Given the description of an element on the screen output the (x, y) to click on. 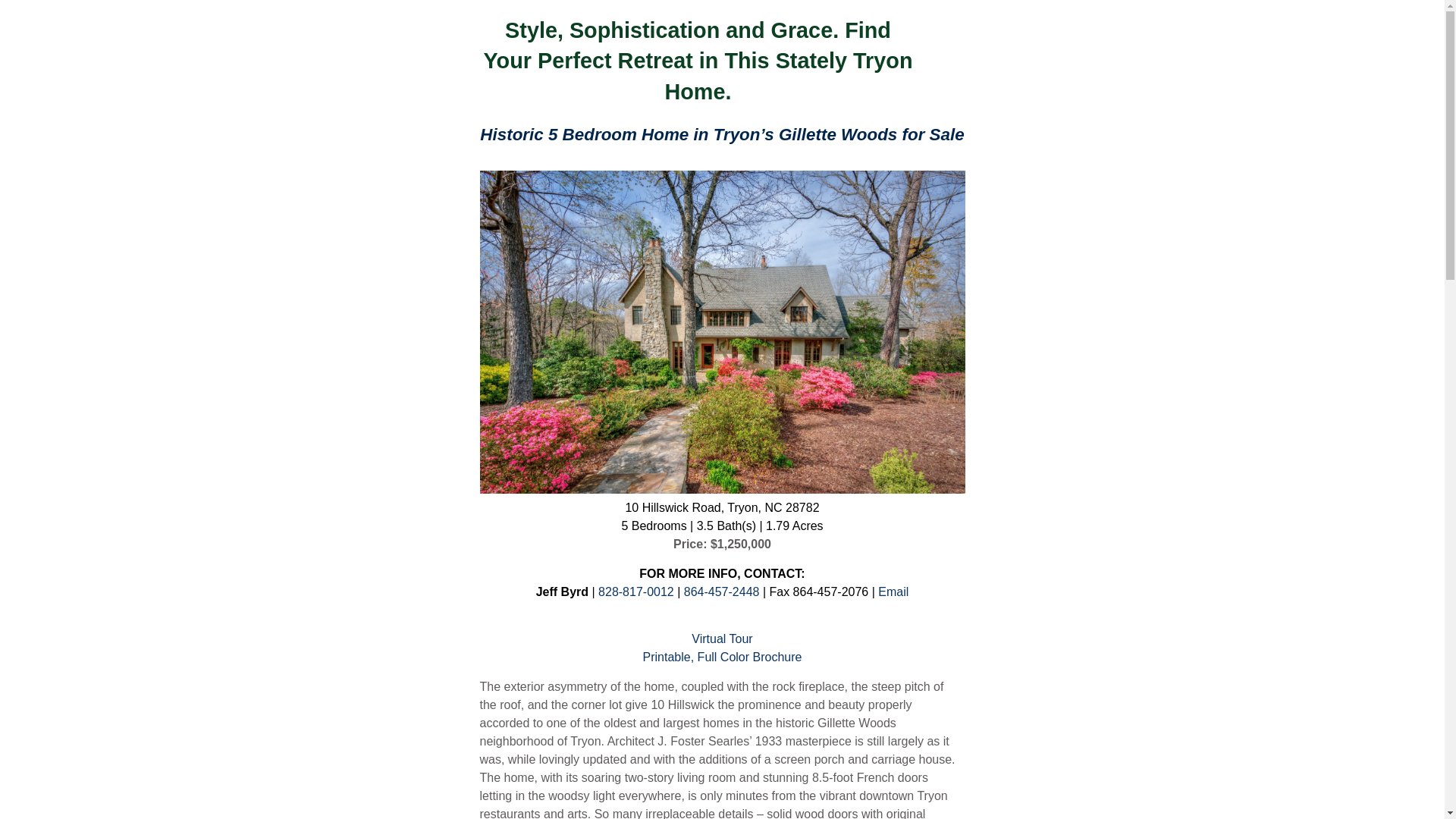
Printable, Full Color Brochure (722, 656)
828-817-0012 (636, 591)
Email (892, 591)
Virtual Tour (721, 638)
864-457-2448 (723, 591)
